Given the description of an element on the screen output the (x, y) to click on. 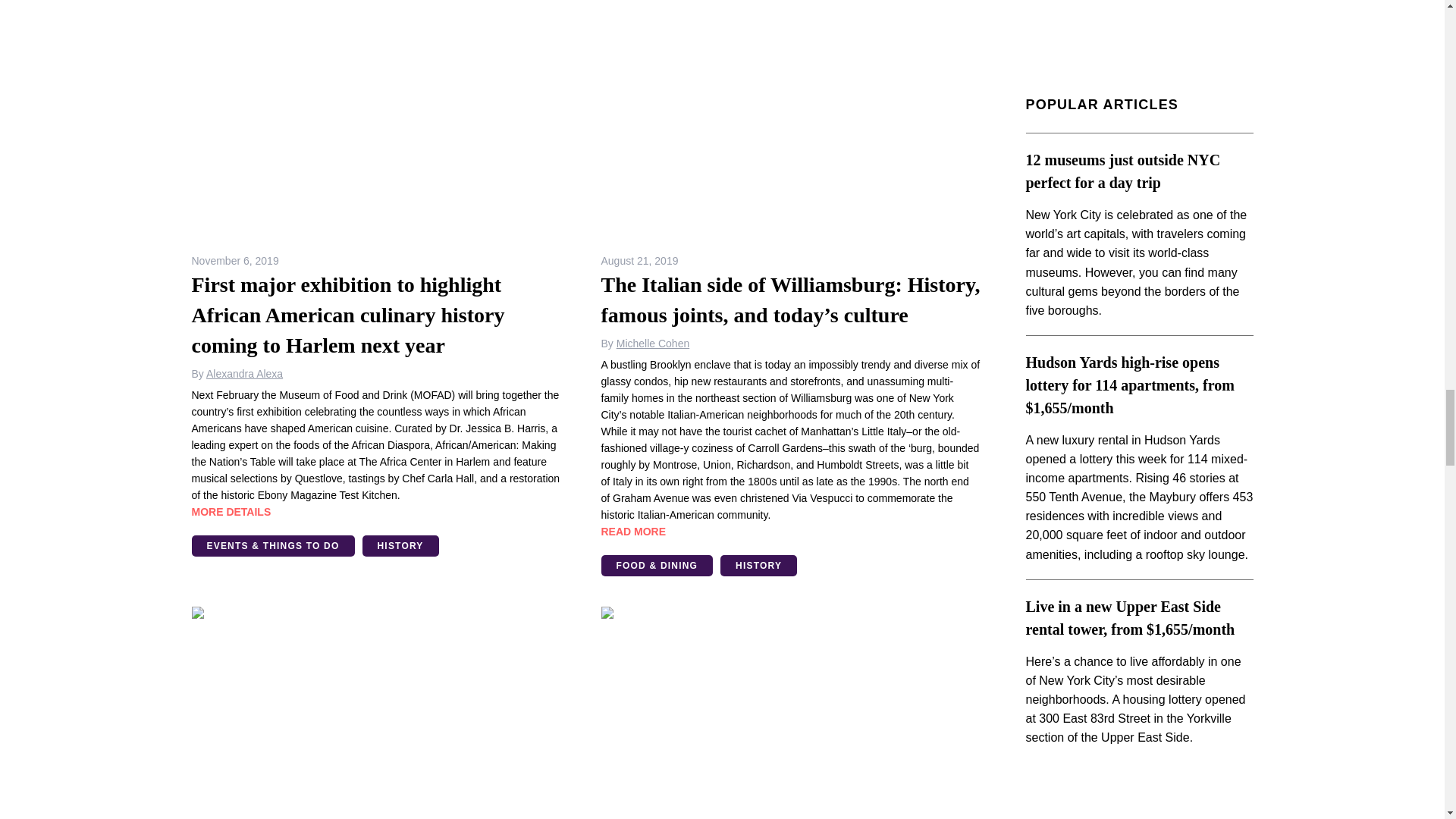
Posts by Michelle Cohen (652, 343)
Posts by Alexandra Alexa (244, 373)
